Given the description of an element on the screen output the (x, y) to click on. 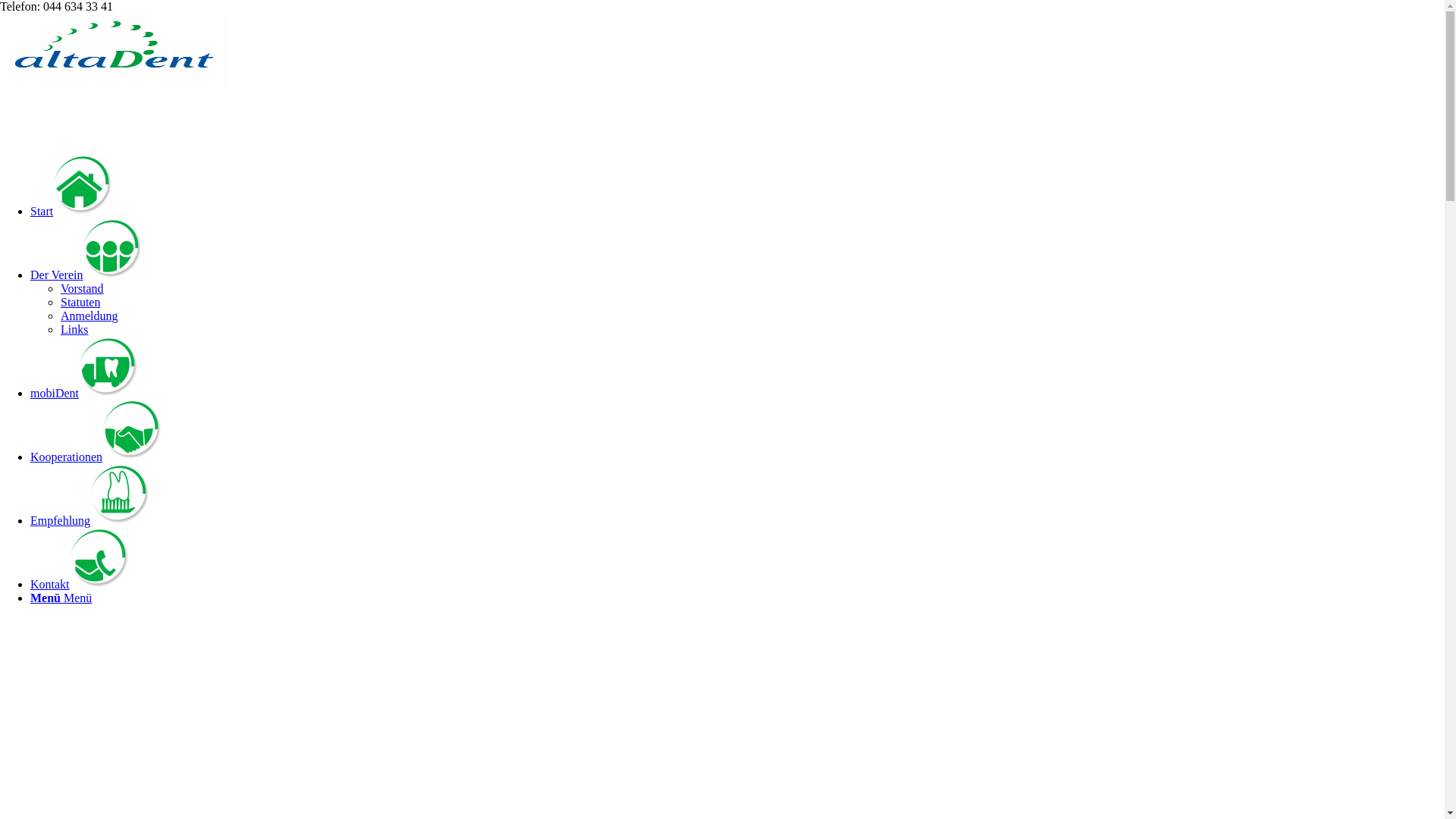
Logo altadent Element type: hover (113, 51)
Kooperationen Element type: text (96, 456)
Anmeldung Element type: text (89, 315)
Empfehlung Element type: text (90, 520)
Statuten Element type: text (80, 301)
Links Element type: text (73, 329)
Vorstand Element type: text (81, 288)
Start Element type: text (71, 210)
mobiDent Element type: text (84, 392)
Kontakt Element type: text (80, 583)
Der Verein Element type: text (86, 274)
